Given the description of an element on the screen output the (x, y) to click on. 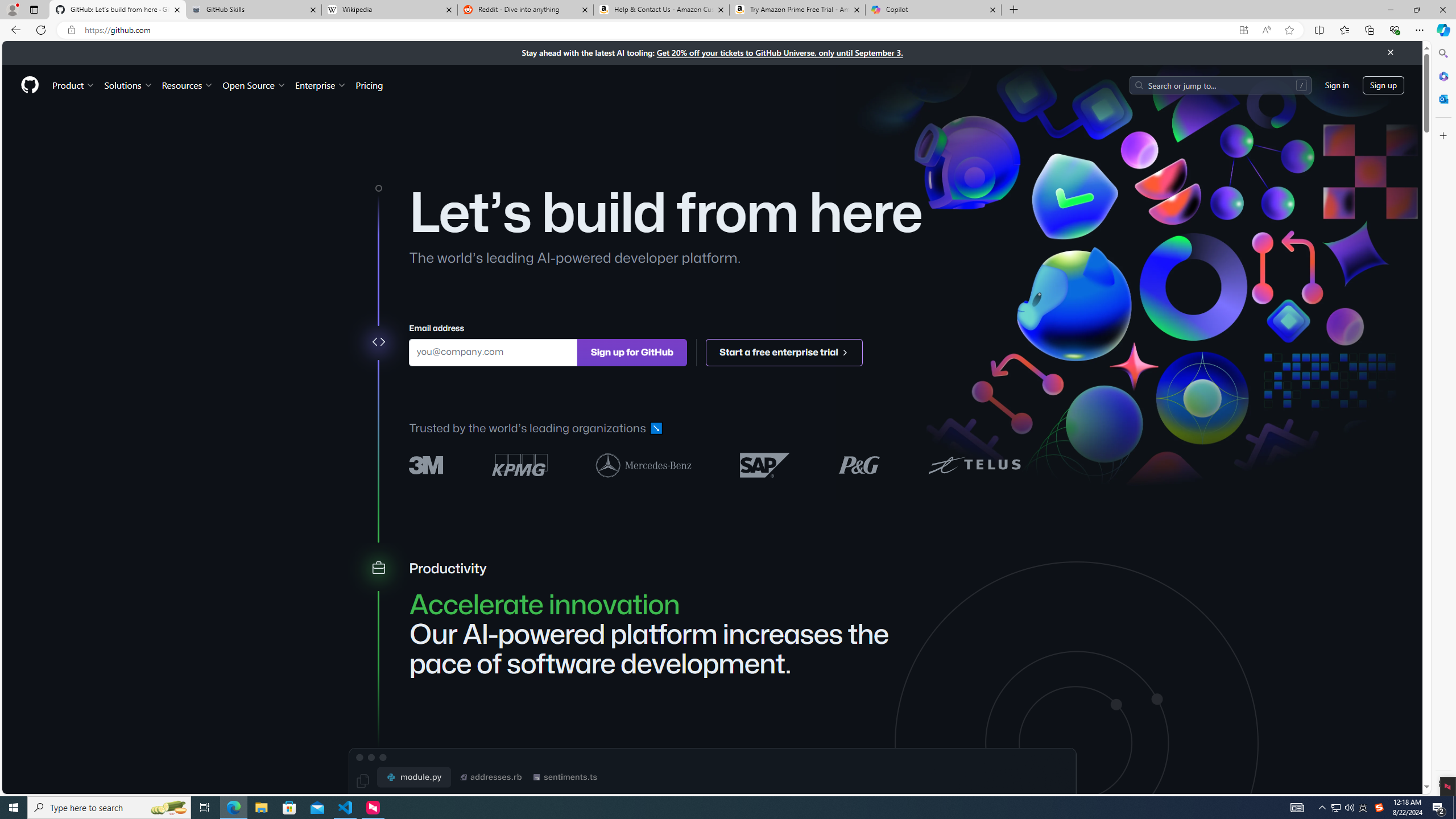
Pricing (368, 84)
